Given the description of an element on the screen output the (x, y) to click on. 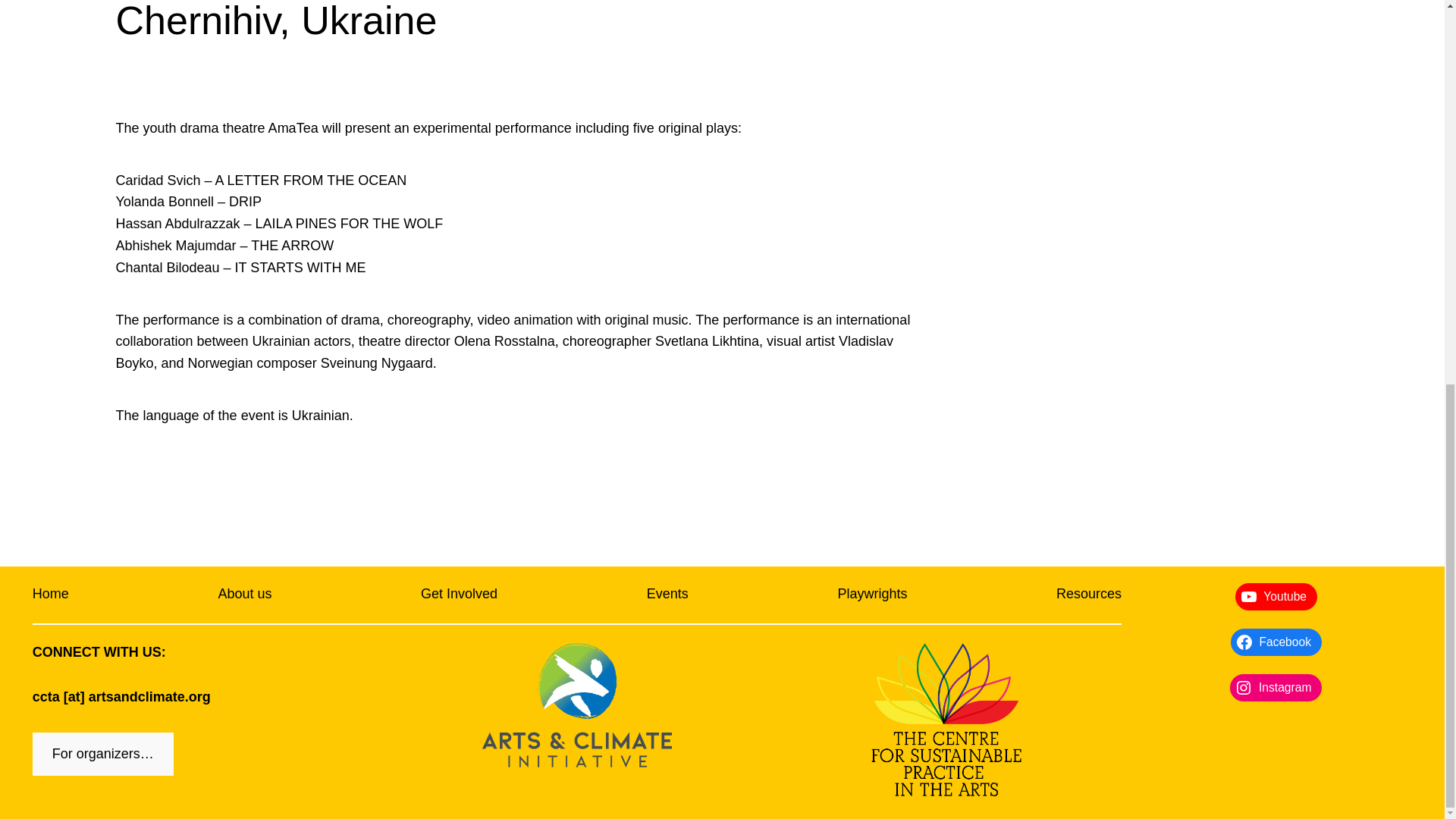
Playwrights (872, 594)
About us (243, 594)
Events (667, 594)
Get Involved (458, 594)
Home (50, 594)
Resources (1089, 594)
